Given the description of an element on the screen output the (x, y) to click on. 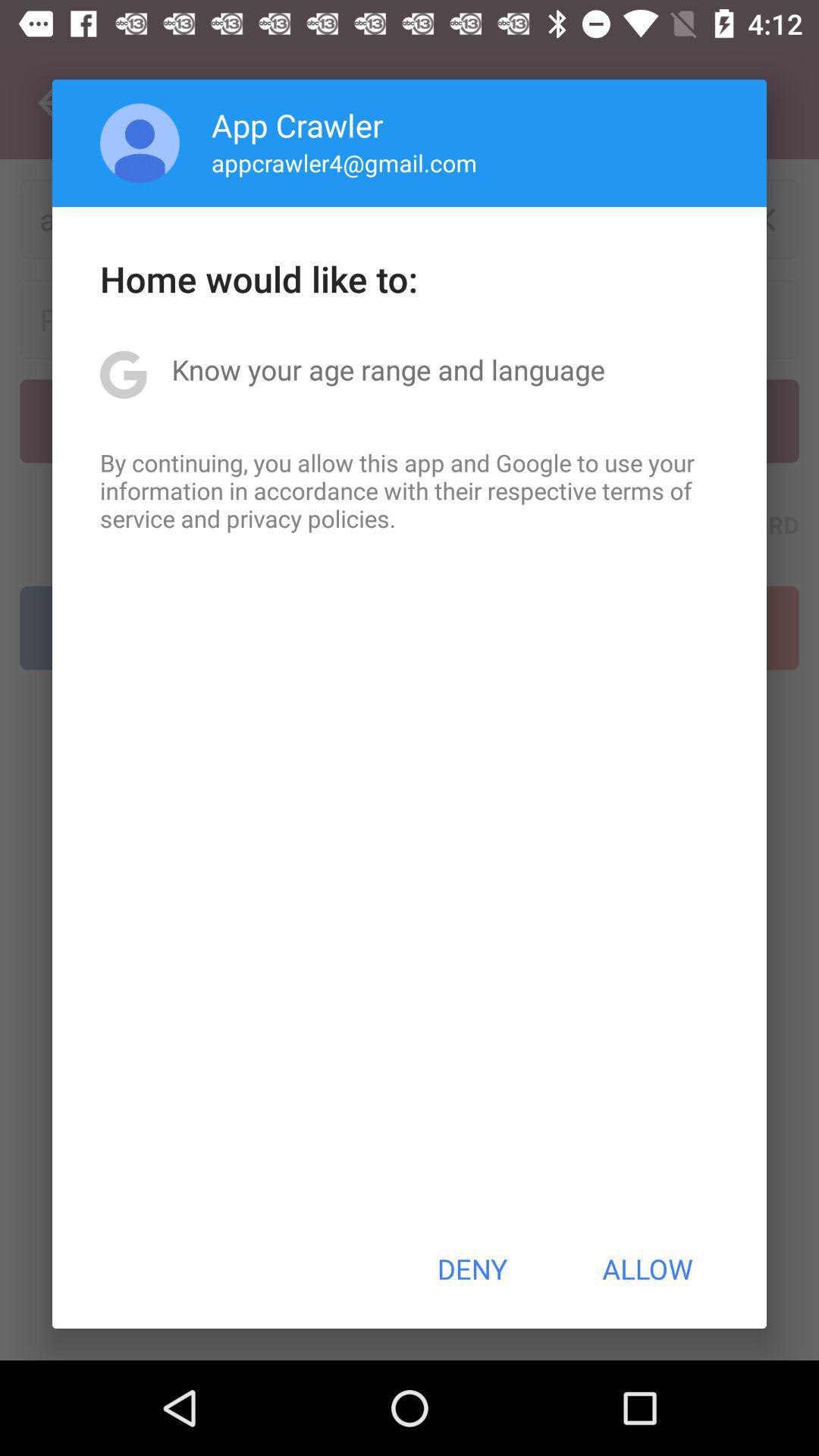
jump until the app crawler icon (297, 124)
